Given the description of an element on the screen output the (x, y) to click on. 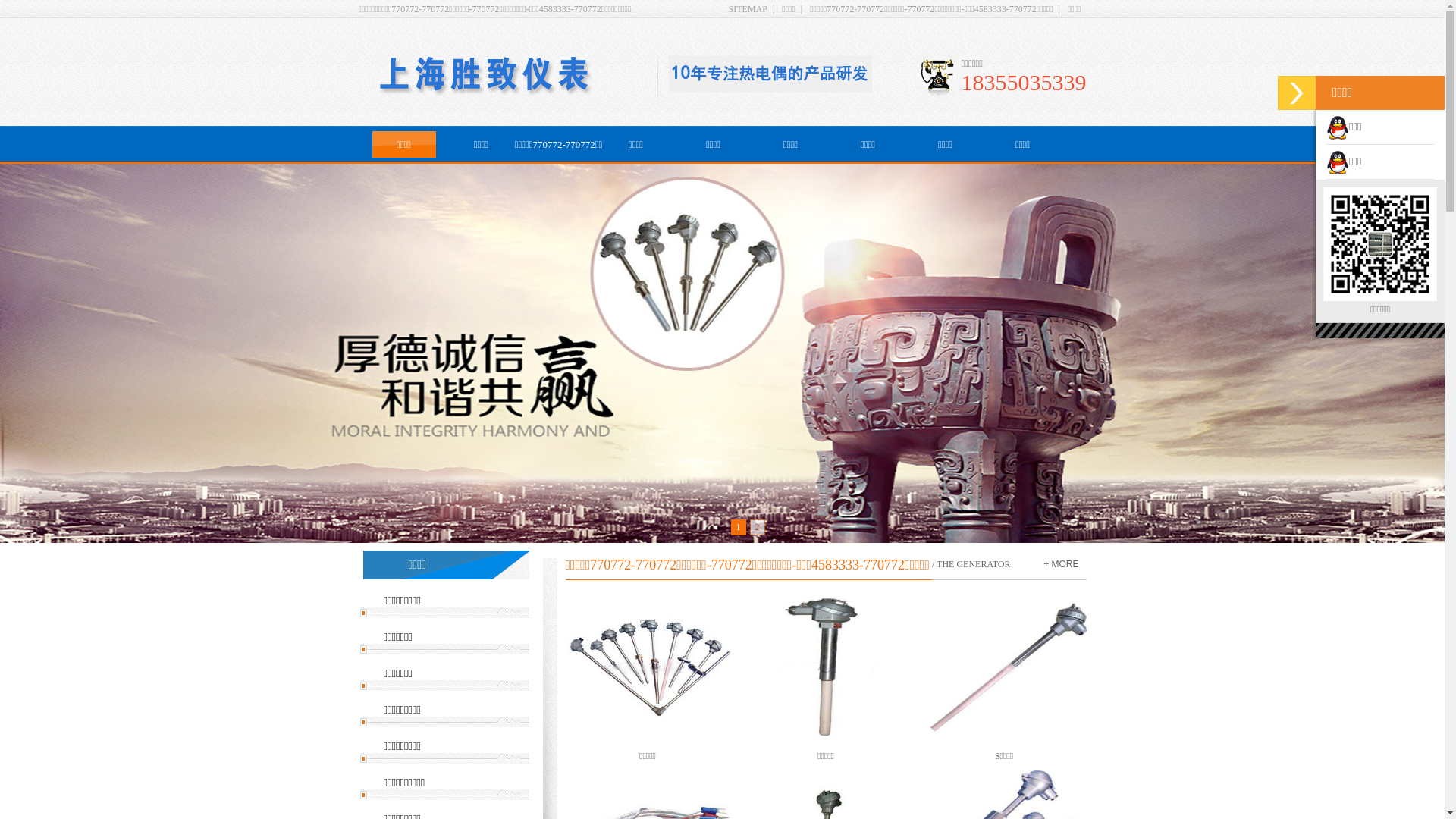
+ MORE Element type: text (1060, 564)
SITEMAP Element type: text (747, 9)
